Given the description of an element on the screen output the (x, y) to click on. 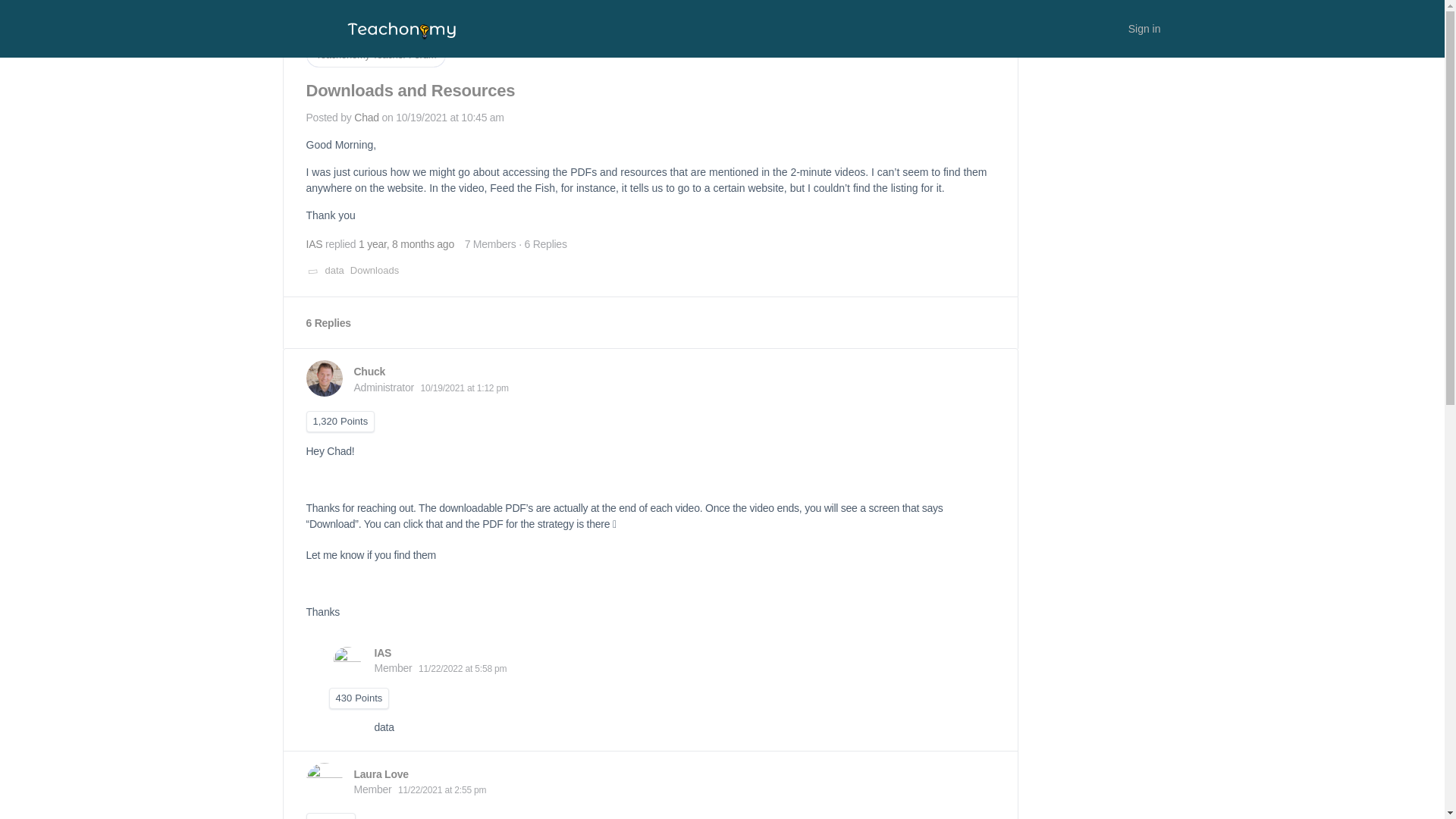
IAS (314, 244)
Chad (365, 117)
Sign in (1144, 28)
Reply To: Downloads and Resources (406, 244)
Laura Love (380, 774)
data (333, 270)
View Laura Love's profile (380, 774)
1 year, 8 months ago (406, 244)
View Chuck's profile (323, 378)
Teachonomy Teacher Forum (375, 54)
View IAS's profile (314, 244)
View Chad's profile (365, 117)
Log In to Reply (1100, 38)
View Chuck's profile (369, 371)
View Laura Love's profile (323, 780)
